Given the description of an element on the screen output the (x, y) to click on. 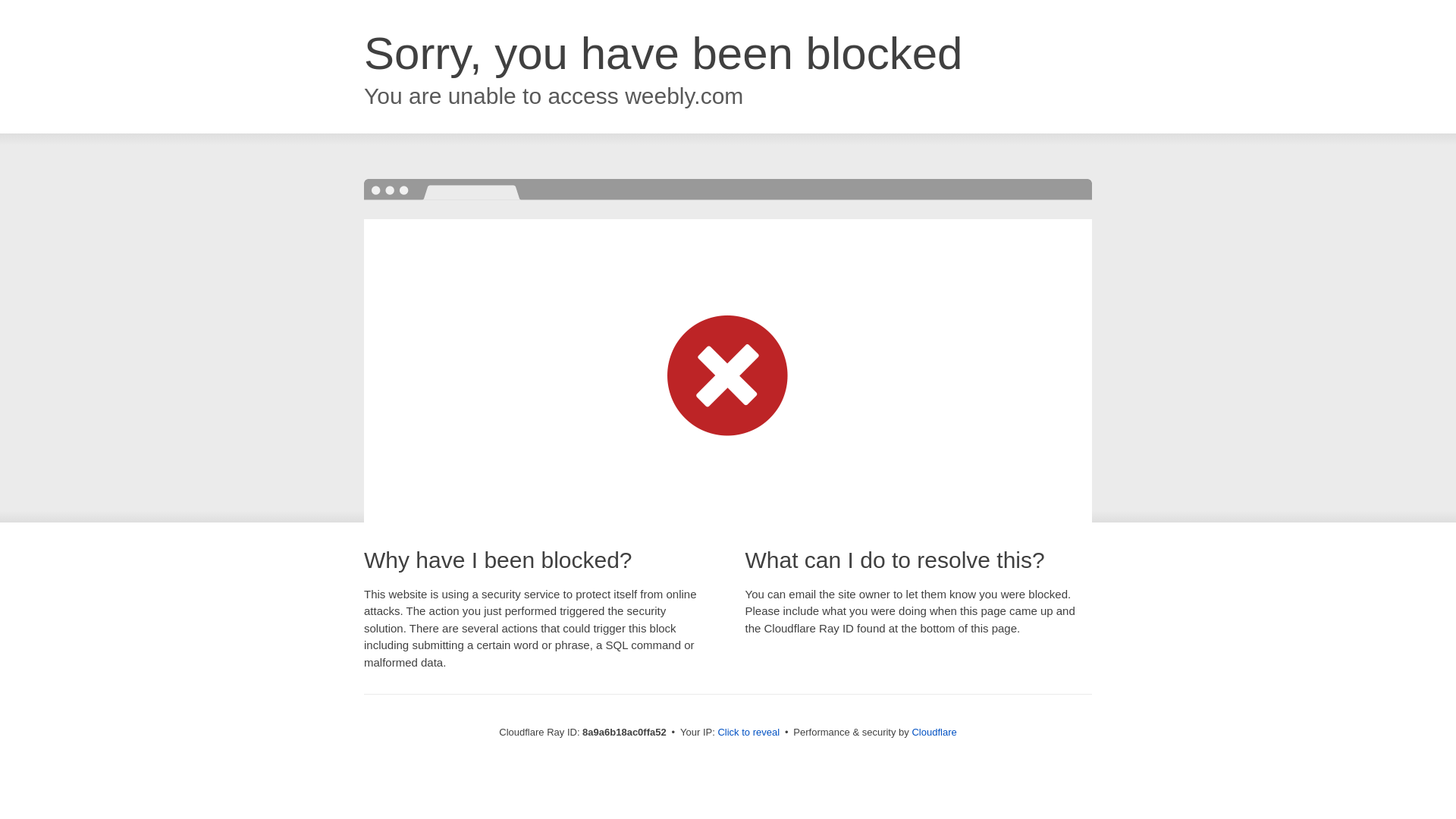
Cloudflare (933, 731)
Click to reveal (747, 732)
